Given the description of an element on the screen output the (x, y) to click on. 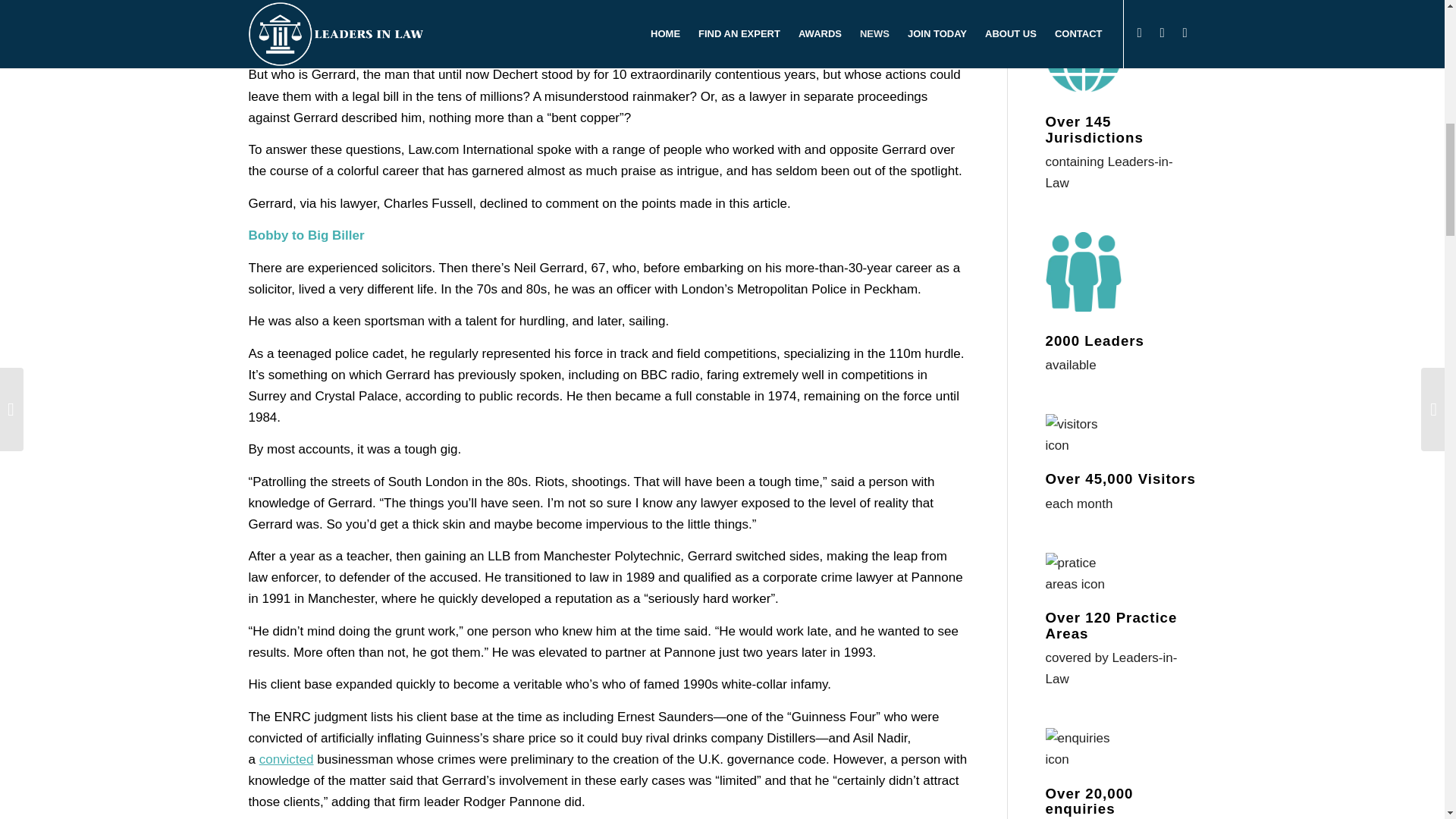
convicted (286, 759)
